Given the description of an element on the screen output the (x, y) to click on. 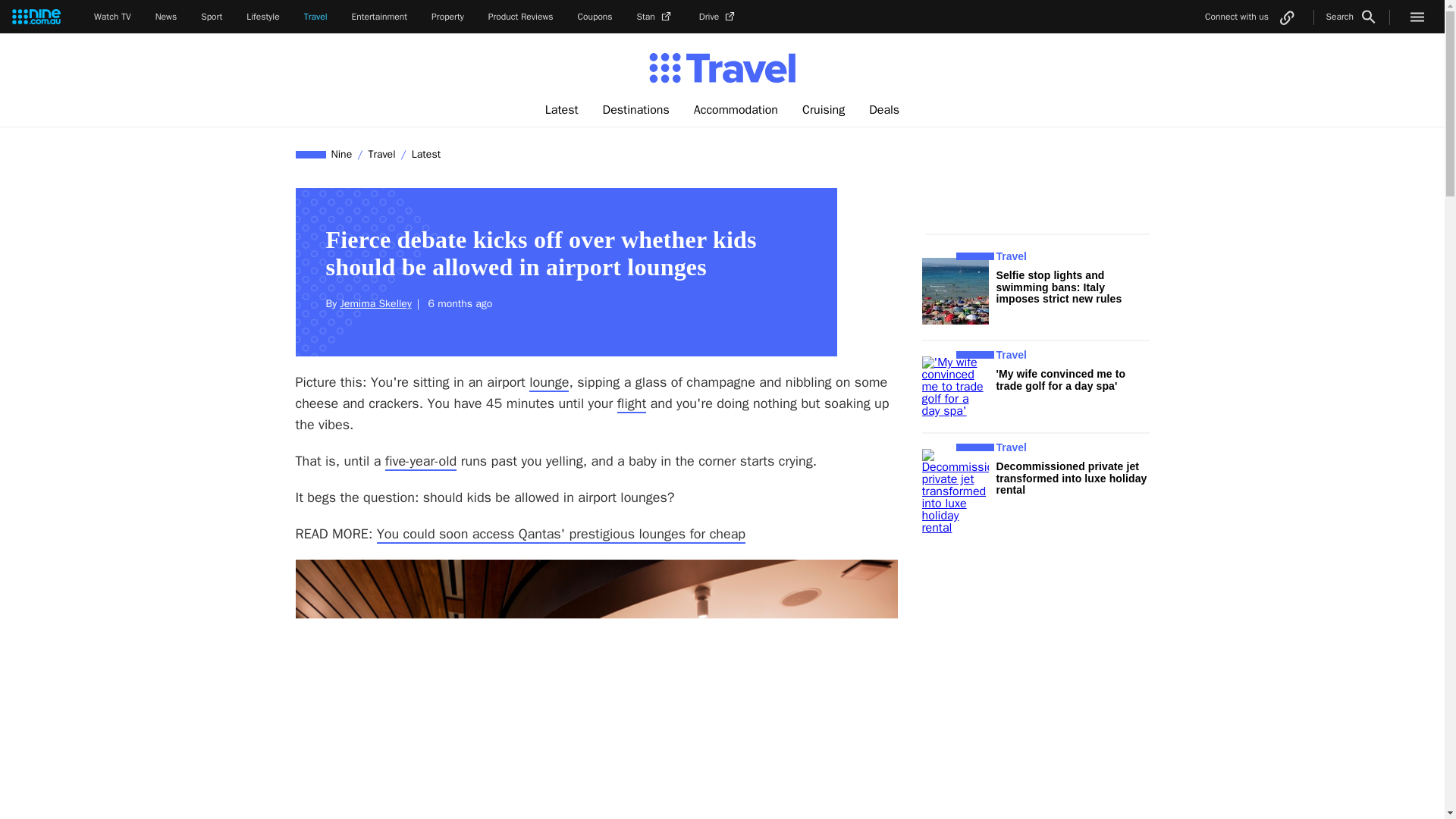
Product Reviews (520, 16)
Coupons (595, 16)
flight (631, 403)
You could soon access Qantas' prestigious lounges for cheap (561, 534)
lounge (549, 382)
Drive (718, 16)
Nine (342, 154)
Lifestyle (262, 16)
Watch TV (112, 16)
Property (447, 16)
